Given the description of an element on the screen output the (x, y) to click on. 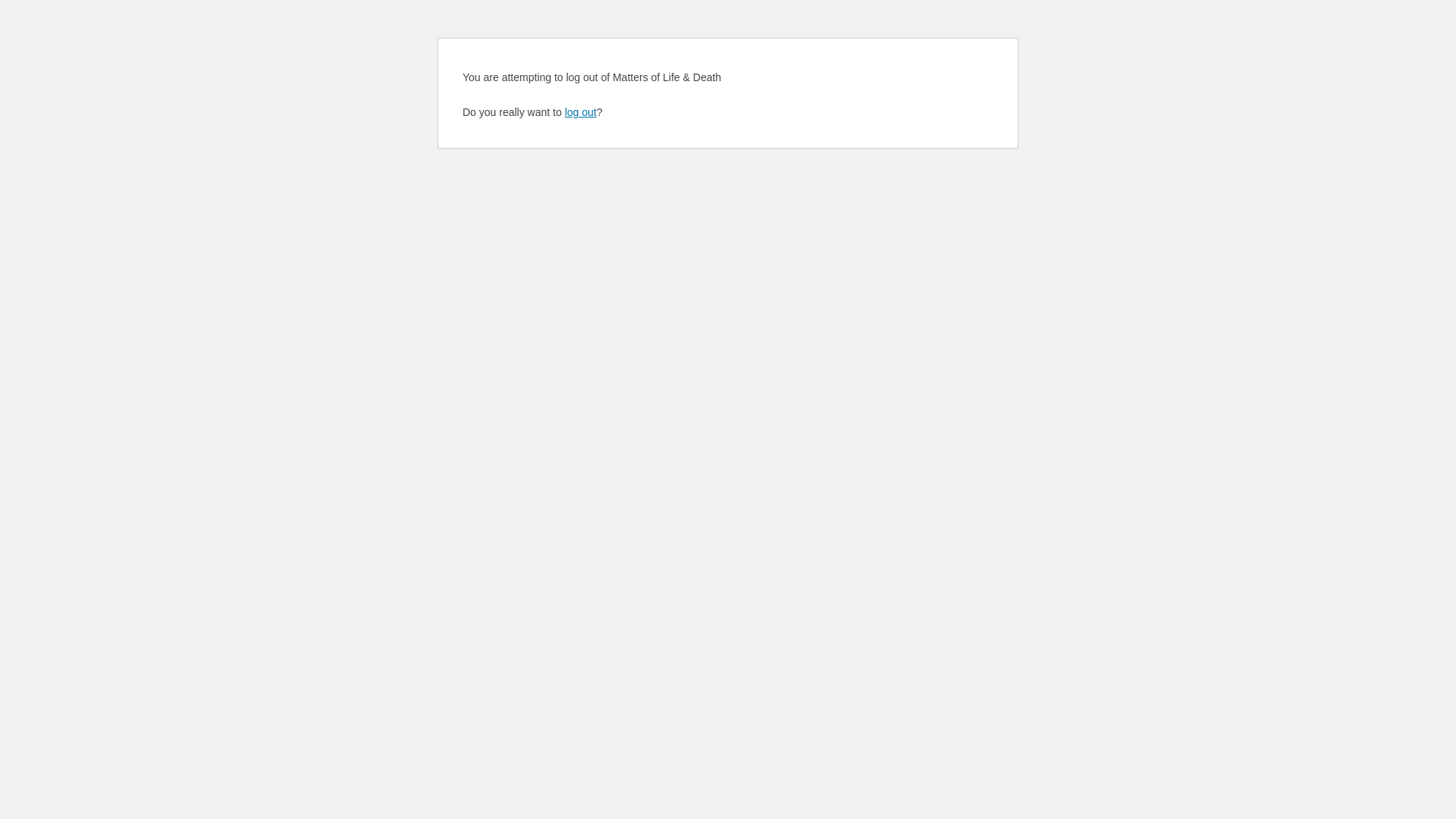
log out Element type: text (580, 112)
